Given the description of an element on the screen output the (x, y) to click on. 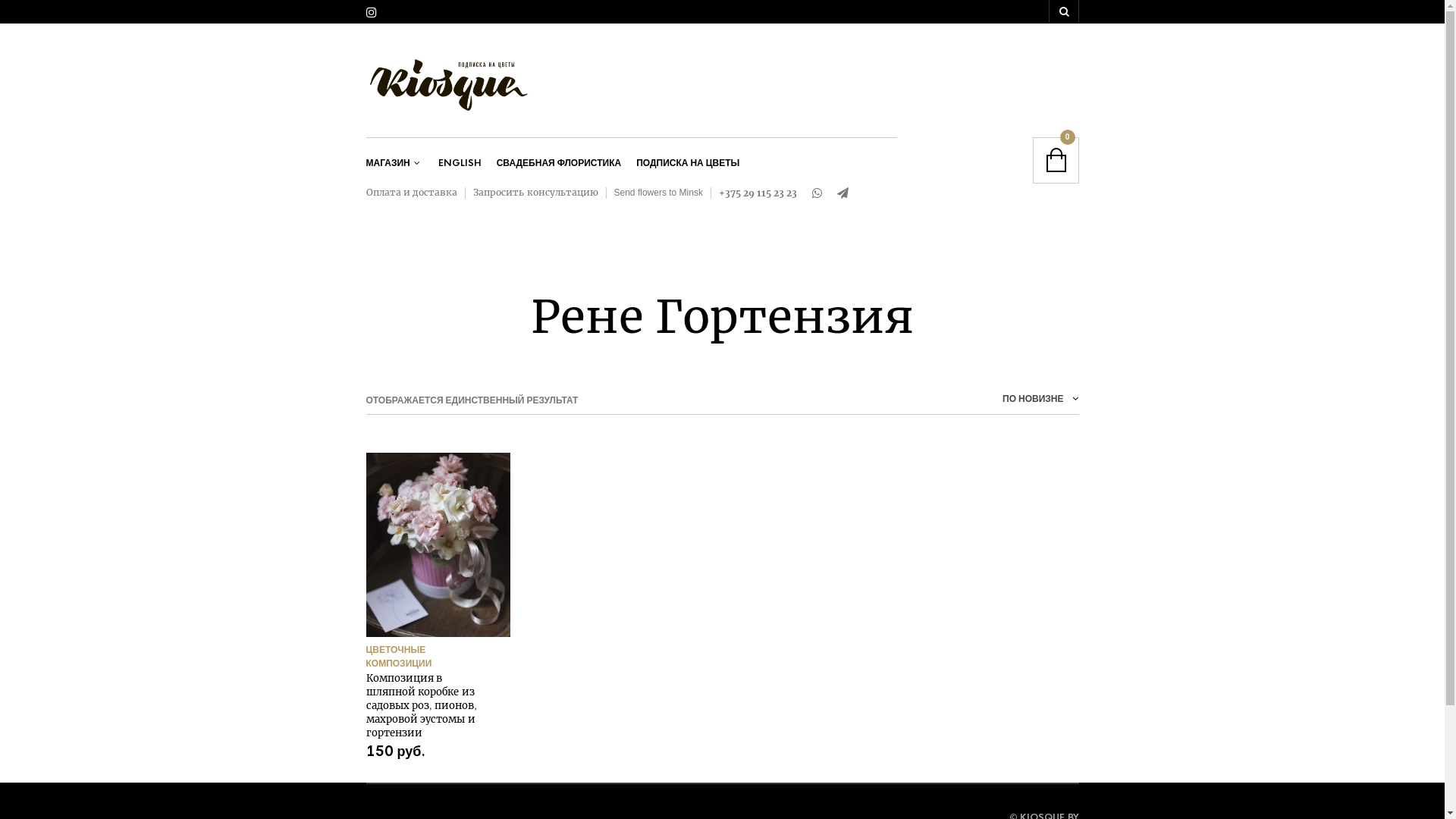
ENGLISH Element type: text (459, 163)
+375 29 115 23 23 Element type: text (757, 193)
Send flowers to Minsk Element type: text (657, 193)
